Given the description of an element on the screen output the (x, y) to click on. 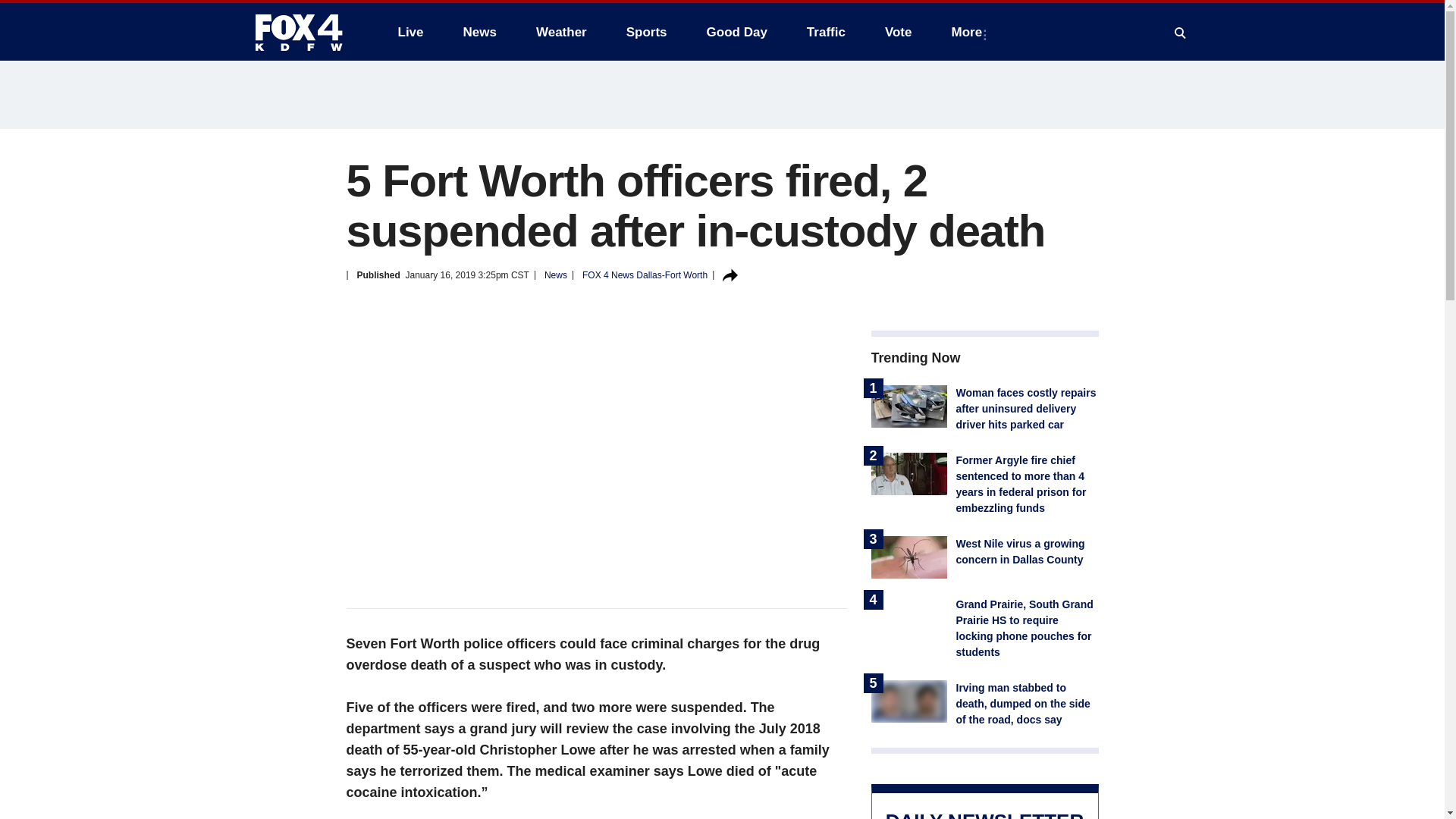
Weather (561, 32)
Traffic (825, 32)
Live (410, 32)
More (969, 32)
News (479, 32)
Vote (898, 32)
Good Day (736, 32)
Sports (646, 32)
